Given the description of an element on the screen output the (x, y) to click on. 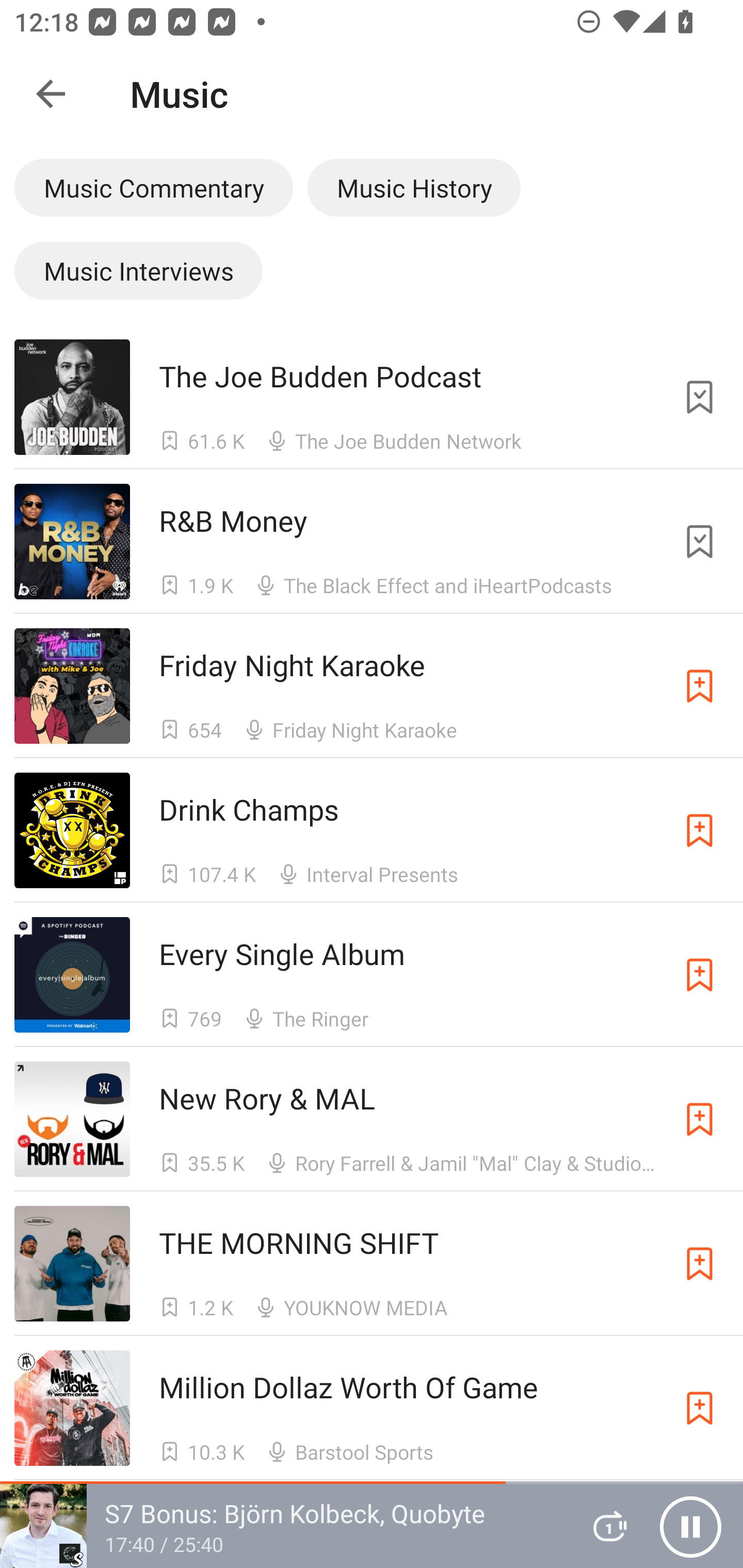
Navigate up (50, 93)
Music Commentary (153, 187)
Music History (413, 187)
Music Interviews (138, 270)
Unsubscribe (699, 396)
Unsubscribe (699, 541)
Subscribe (699, 685)
Subscribe (699, 830)
Subscribe (699, 975)
Subscribe (699, 1119)
Subscribe (699, 1263)
Subscribe (699, 1408)
S7 Bonus: Björn Kolbeck, Quobyte 17:40 / 25:40 (283, 1525)
Pause (690, 1526)
